Given the description of an element on the screen output the (x, y) to click on. 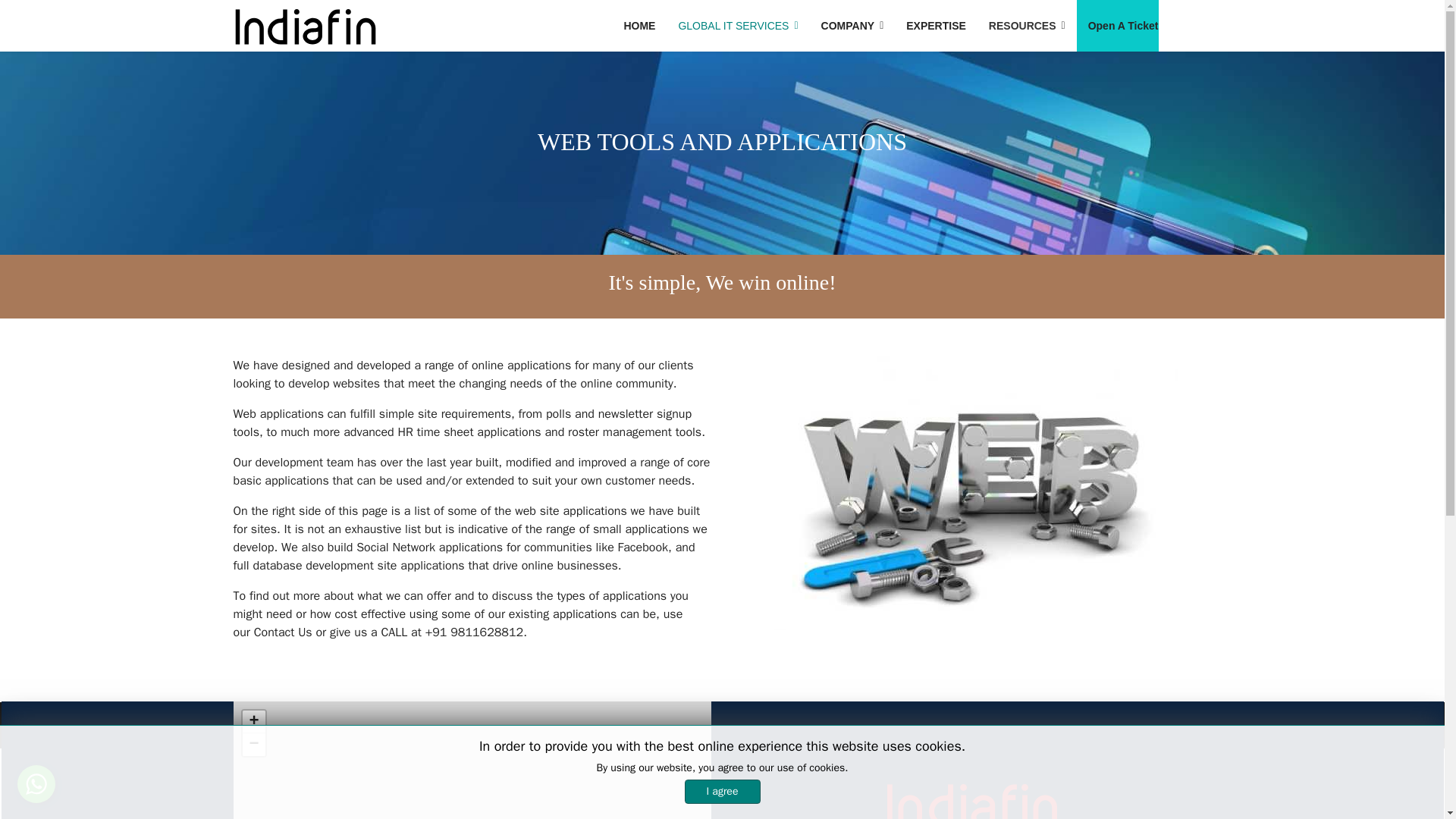
GLOBAL IT SERVICES (737, 25)
HOME (638, 25)
COMPANY (852, 25)
Zoom in (253, 721)
Zoom out (253, 744)
Open A Ticket (1117, 25)
EXPERTISE (935, 25)
